Given the description of an element on the screen output the (x, y) to click on. 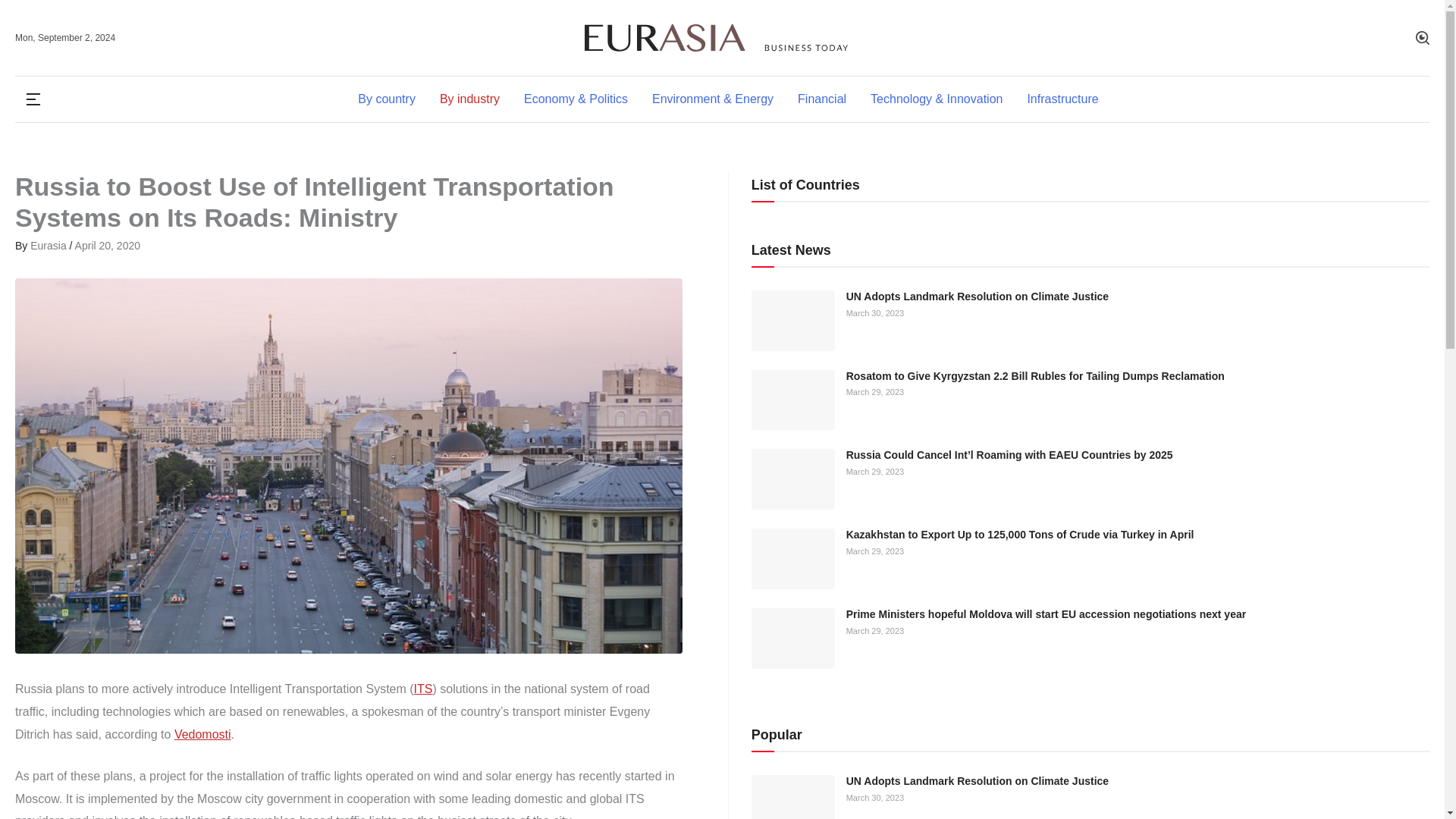
Main Menu (32, 98)
Search (1422, 38)
By country (387, 99)
View all posts by Eurasia (49, 245)
By industry (470, 99)
Financial (822, 99)
Infrastructure (1055, 99)
